Given the description of an element on the screen output the (x, y) to click on. 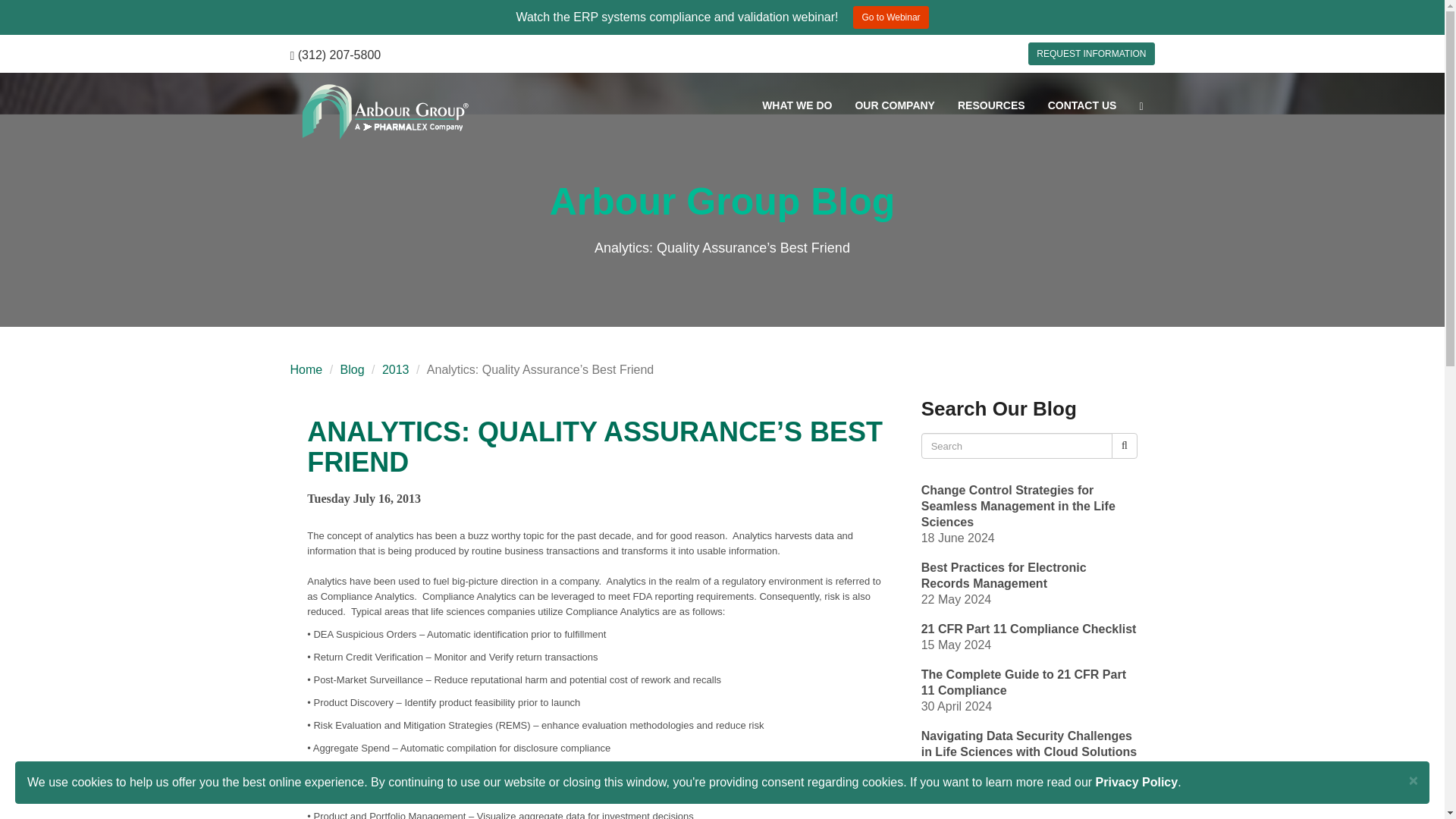
21 CFR Part 11 Compliance Checklist (1029, 629)
Go to Webinar (890, 16)
The Complete Guide to 21 CFR Part 11 Compliance (1023, 682)
Best Practices for Electronic Records Management  (1003, 575)
WHAT WE DO (797, 105)
REQUEST INFORMATION (1090, 53)
